Given the description of an element on the screen output the (x, y) to click on. 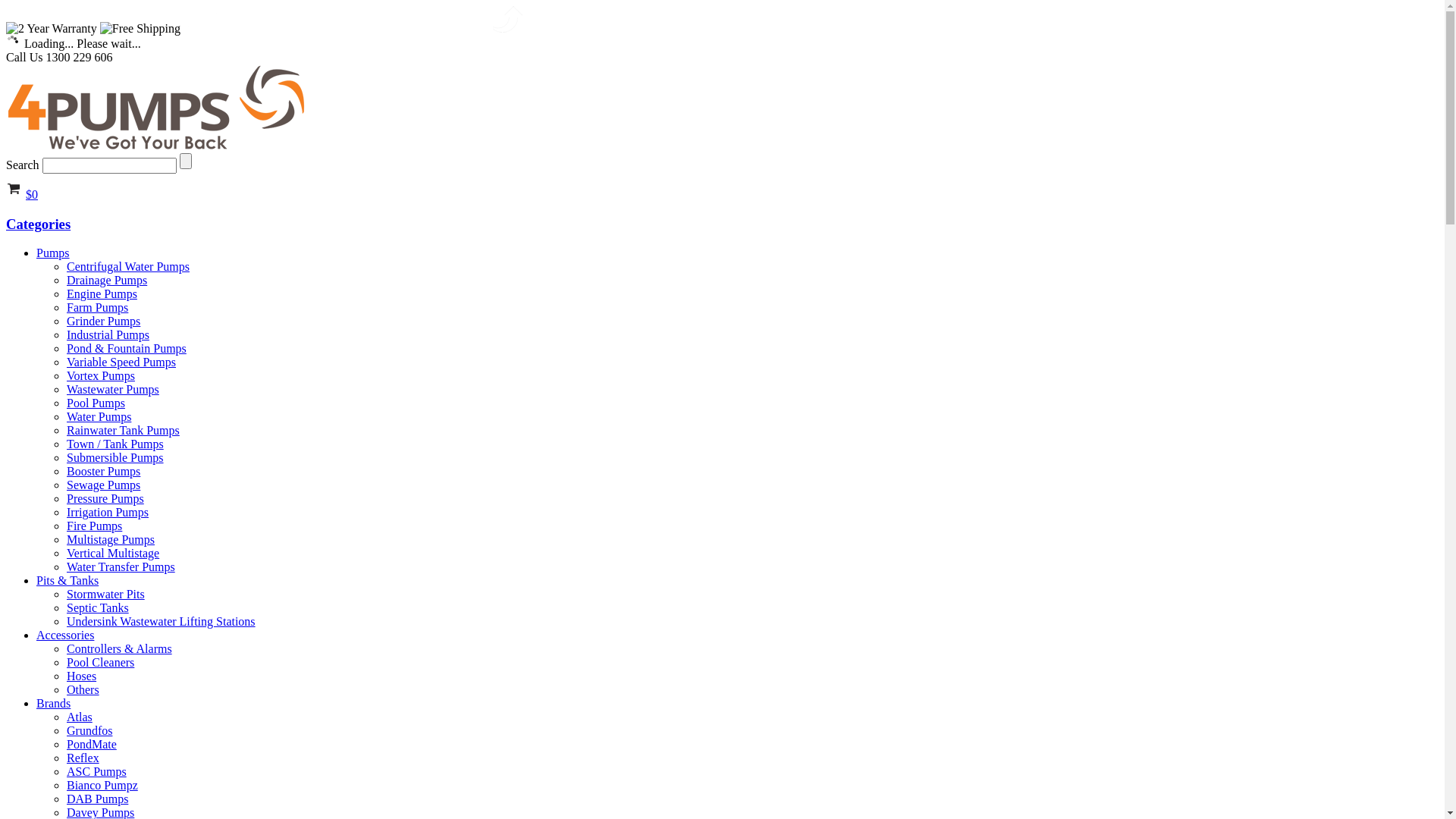
Undersink Wastewater Lifting Stations Element type: text (160, 621)
View Cart Element type: hover (14, 194)
Others Element type: text (82, 689)
Wastewater Pumps Element type: text (112, 388)
Bianco Pumpz Element type: text (102, 784)
PondMate Element type: text (91, 743)
Pits & Tanks Element type: text (67, 580)
Septic Tanks Element type: text (97, 607)
Vertical Multistage Element type: text (112, 552)
Variable Speed Pumps Element type: text (120, 361)
Vortex Pumps Element type: text (100, 375)
Centrifugal Water Pumps Element type: text (127, 266)
Categories Element type: text (722, 224)
Stormwater Pits Element type: text (105, 593)
Rainwater Tank Pumps Element type: text (122, 429)
Pumps Element type: text (52, 252)
Pool Cleaners Element type: text (100, 661)
Industrial Pumps Element type: text (107, 334)
Multistage Pumps Element type: text (110, 539)
Booster Pumps Element type: text (103, 470)
Water Pumps Element type: text (98, 416)
$0 Element type: text (31, 194)
Controllers & Alarms Element type: text (119, 648)
Fire Pumps Element type: text (94, 525)
Drainage Pumps Element type: text (106, 279)
Grundfos Element type: text (89, 730)
Engine Pumps Element type: text (101, 293)
Farm Pumps Element type: text (97, 307)
ASC Pumps Element type: text (96, 771)
Search Element type: hover (185, 161)
Irrigation Pumps Element type: text (107, 511)
Atlas Element type: text (79, 716)
Town / Tank Pumps Element type: text (114, 443)
Reflex Element type: text (82, 757)
Submersible Pumps Element type: text (114, 457)
Call Us 1300 229 606 Element type: text (59, 56)
Pond & Fountain Pumps Element type: text (126, 348)
Water Transfer Pumps Element type: text (120, 566)
Accessories Element type: text (65, 634)
Pool Pumps Element type: text (95, 402)
Pressure Pumps Element type: text (105, 498)
Hoses Element type: text (81, 675)
Grinder Pumps Element type: text (103, 320)
Sewage Pumps Element type: text (103, 484)
DAB Pumps Element type: text (97, 798)
Brands Element type: text (53, 702)
